Given the description of an element on the screen output the (x, y) to click on. 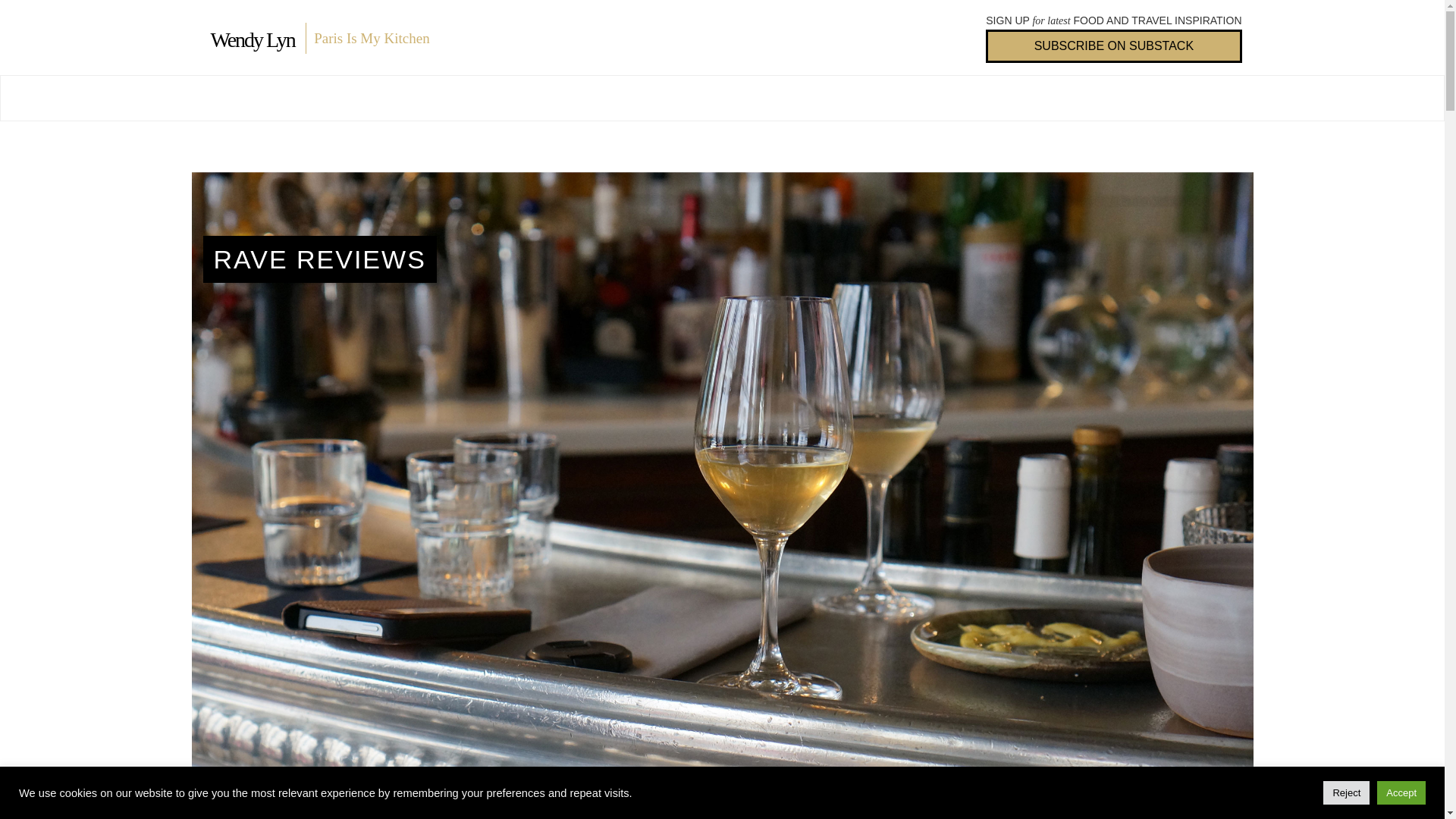
SERVICES (720, 98)
NEW BOOK (328, 98)
Wendy Lyn (253, 38)
CONTACT (816, 98)
SUBSCRIBE ON SUBSTACK (1113, 46)
New Book (328, 98)
About (239, 98)
Paris Guide (612, 98)
PARIS GUIDE (612, 98)
Wendy Lyn (253, 38)
Services (720, 98)
ABOUT (239, 98)
